Given the description of an element on the screen output the (x, y) to click on. 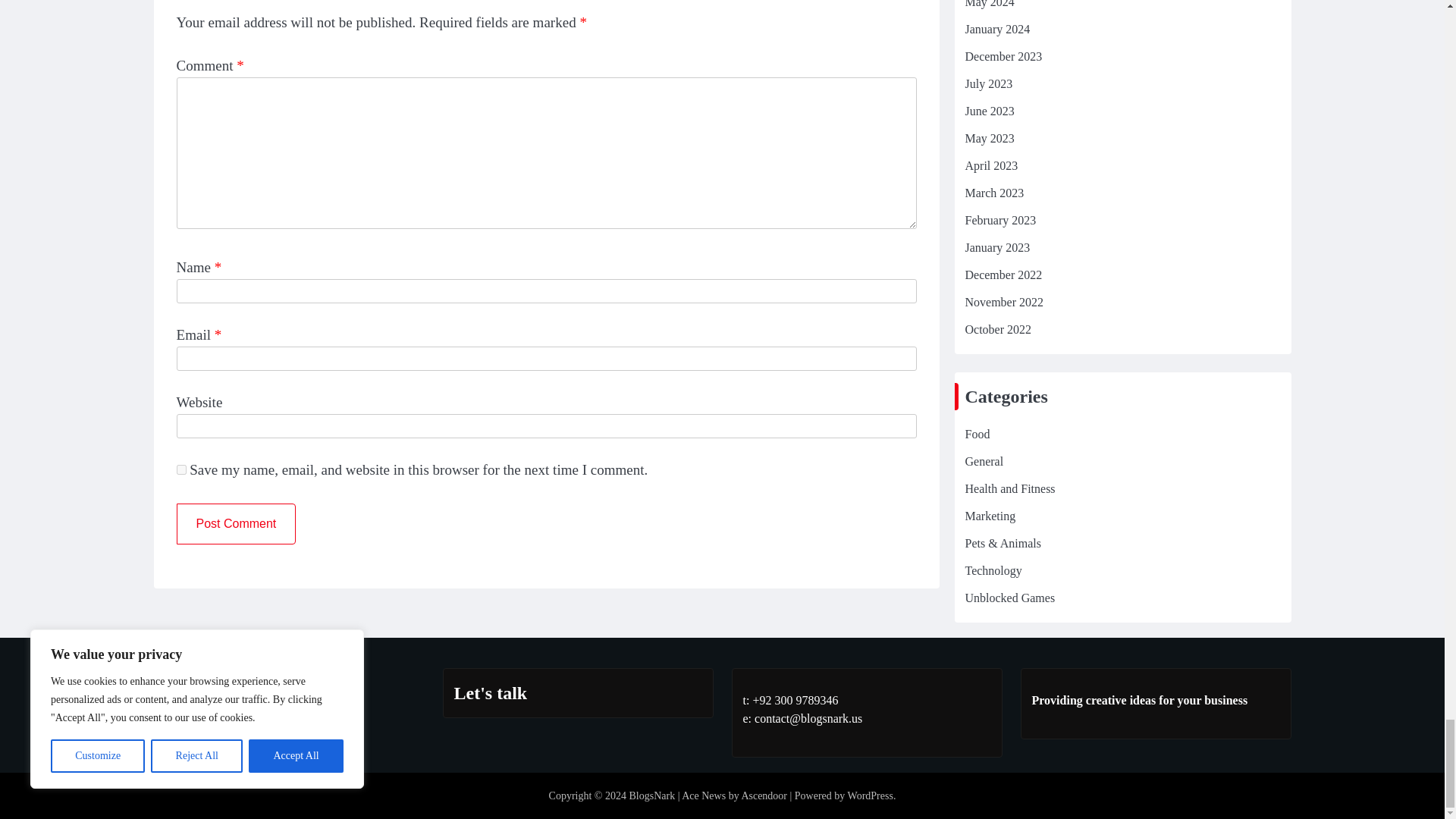
yes (181, 470)
Post Comment (235, 523)
